Given the description of an element on the screen output the (x, y) to click on. 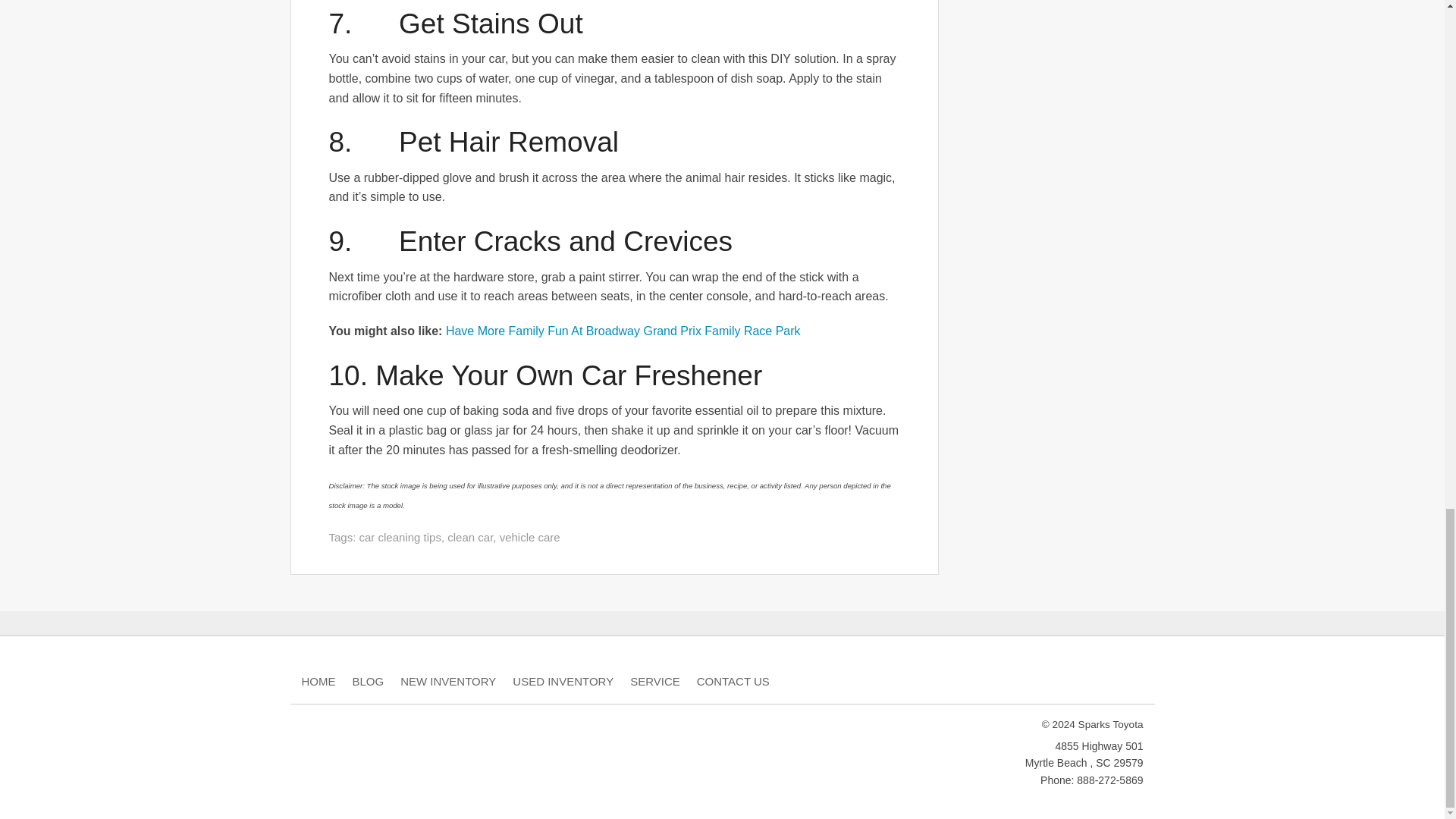
CONTACT US (733, 681)
car cleaning tips (400, 536)
USED INVENTORY (562, 681)
BLOG (368, 681)
HOME (318, 681)
NEW INVENTORY (448, 681)
vehicle care (529, 536)
SERVICE (654, 681)
Have More Family Fun At Broadway Grand Prix Family Race Park (622, 330)
clean car (469, 536)
